Given the description of an element on the screen output the (x, y) to click on. 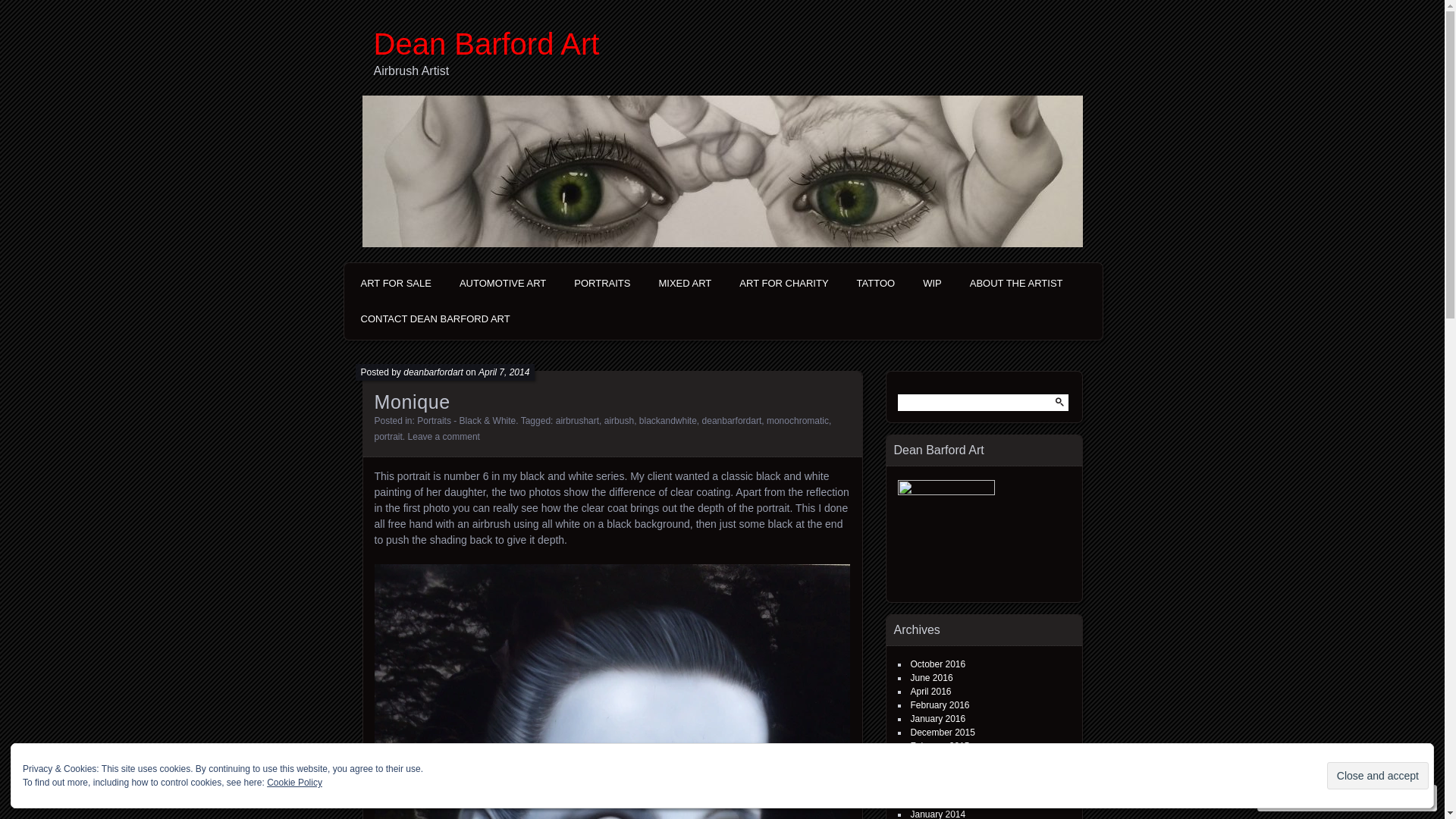
Leave a comment Element type: text (443, 436)
February 2014 Element type: text (939, 800)
February 2015 Element type: text (939, 745)
ABOUT THE ARTIST Element type: text (1016, 283)
Portraits - Black & White Element type: text (466, 420)
WIP Element type: text (932, 283)
PORTRAITS Element type: text (601, 283)
Search Element type: text (21, 7)
April 2016 Element type: text (930, 691)
January 2016 Element type: text (937, 718)
TATTOO Element type: text (875, 283)
CONTACT DEAN BARFORD ART Element type: text (434, 319)
ART FOR CHARITY Element type: text (783, 283)
portrait Element type: text (388, 436)
Dean Barford Art Element type: text (727, 44)
October 2016 Element type: text (937, 663)
Airbrush Artist Element type: text (727, 71)
April 7, 2014 Element type: text (503, 372)
Close and accept Element type: text (1377, 775)
October 2014 Element type: text (937, 759)
ART FOR SALE Element type: text (395, 283)
June 2016 Element type: text (931, 677)
airbush Element type: text (618, 420)
deanbarfordart Element type: text (433, 372)
December 2015 Element type: text (942, 732)
airbrushart Element type: text (577, 420)
MIXED ART Element type: text (684, 283)
April 2014 Element type: text (930, 773)
February 2016 Element type: text (939, 704)
AUTOMOTIVE ART Element type: text (502, 283)
March 2014 Element type: text (933, 786)
blackandwhite Element type: text (667, 420)
monochromatic Element type: text (797, 420)
deanbarfordart Element type: text (732, 420)
Cookie Policy Element type: text (294, 782)
